Given the description of an element on the screen output the (x, y) to click on. 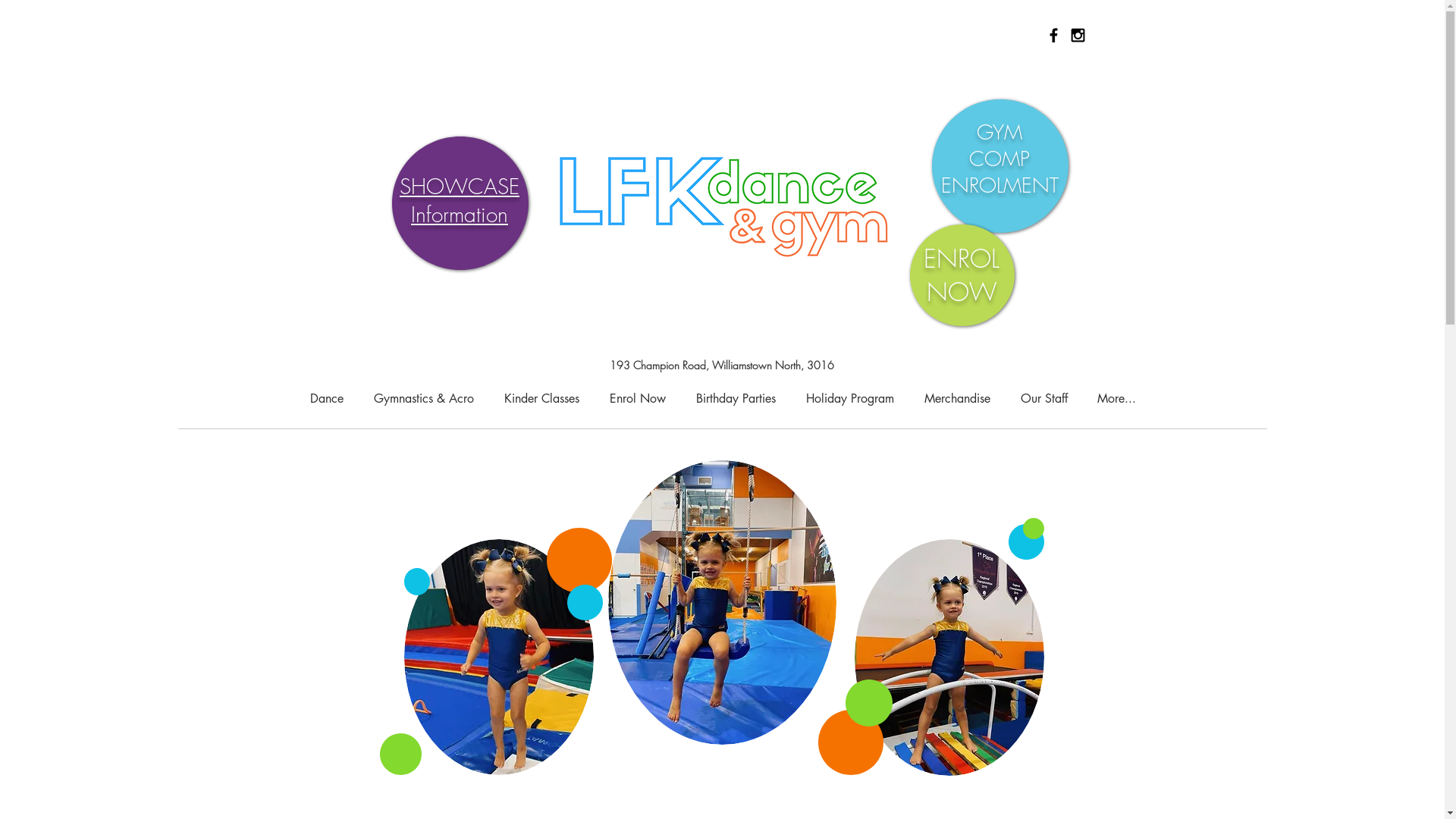
GYM
COMP ENROLMENT Element type: text (998, 158)
SHOWCASE
Information Element type: text (459, 200)
Holiday Program Element type: text (849, 398)
Merchandise Element type: text (956, 398)
Enrol Now Element type: text (637, 398)
ENROL
NOW Element type: text (961, 274)
